Given the description of an element on the screen output the (x, y) to click on. 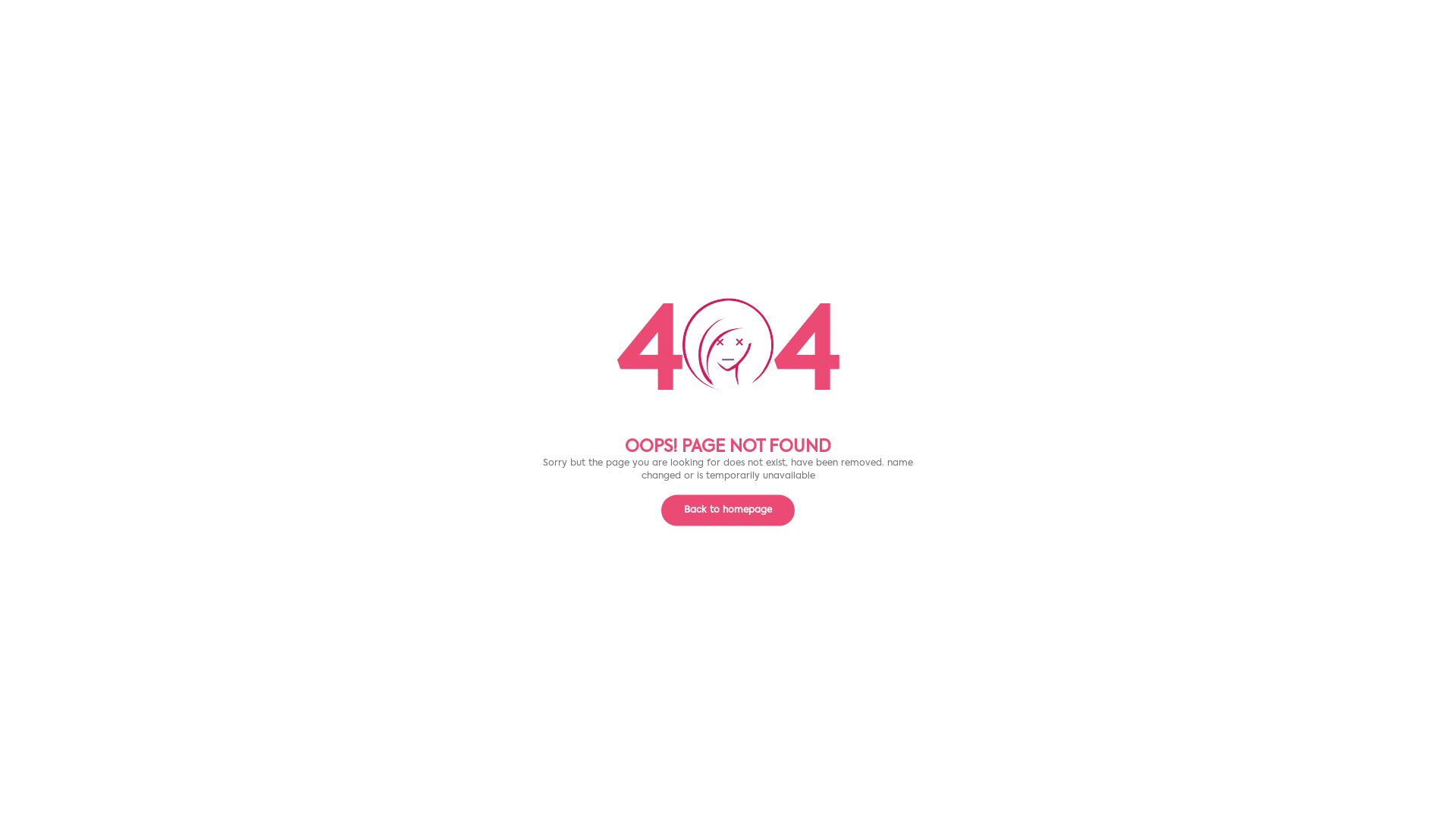
Back to homepage Element type: text (727, 510)
